Given the description of an element on the screen output the (x, y) to click on. 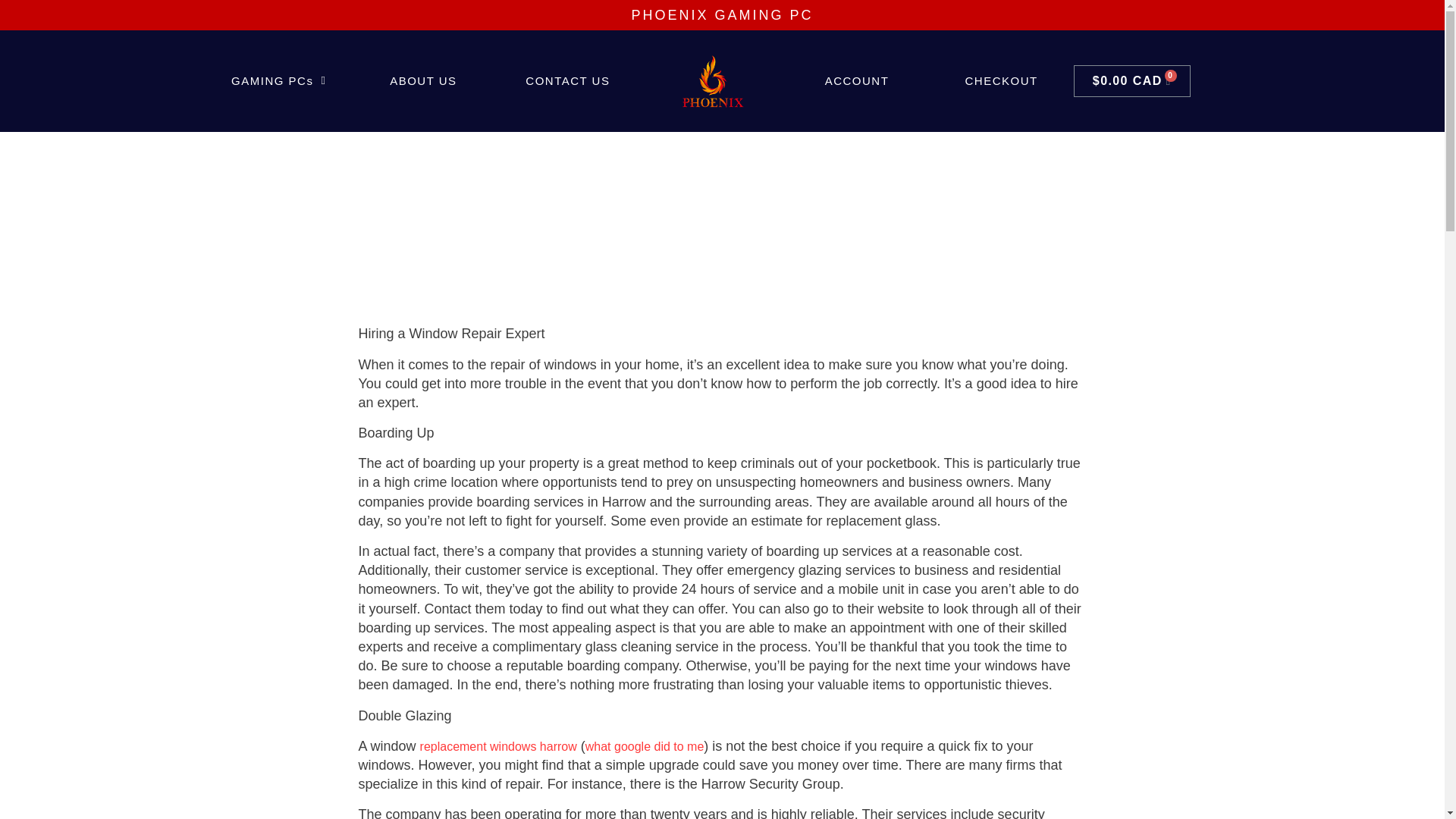
what google did to me (644, 746)
CHECKOUT (1001, 80)
CONTACT US (568, 80)
ACCOUNT (857, 80)
replacement windows harrow (498, 746)
GAMING PCs (278, 80)
ABOUT US (423, 80)
